Given the description of an element on the screen output the (x, y) to click on. 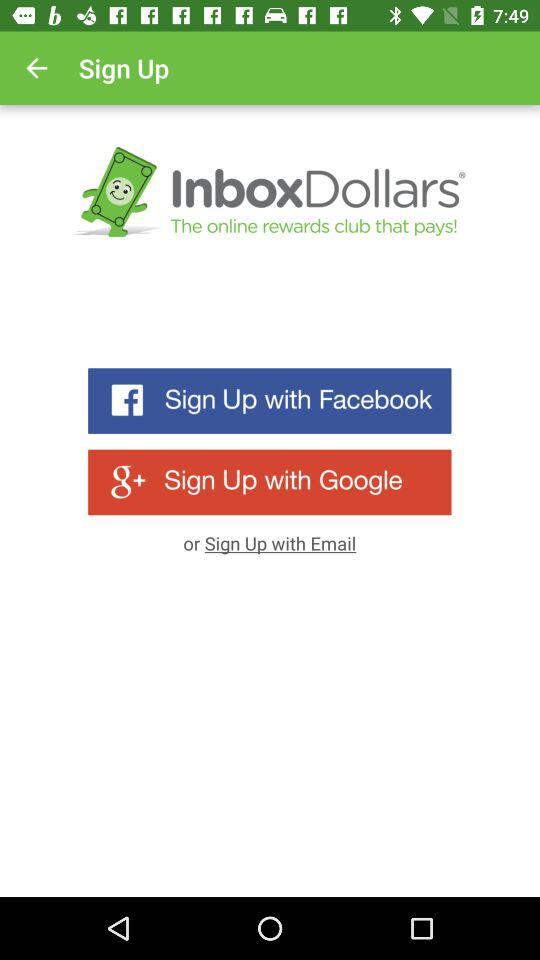
sign up with google account (269, 482)
